Given the description of an element on the screen output the (x, y) to click on. 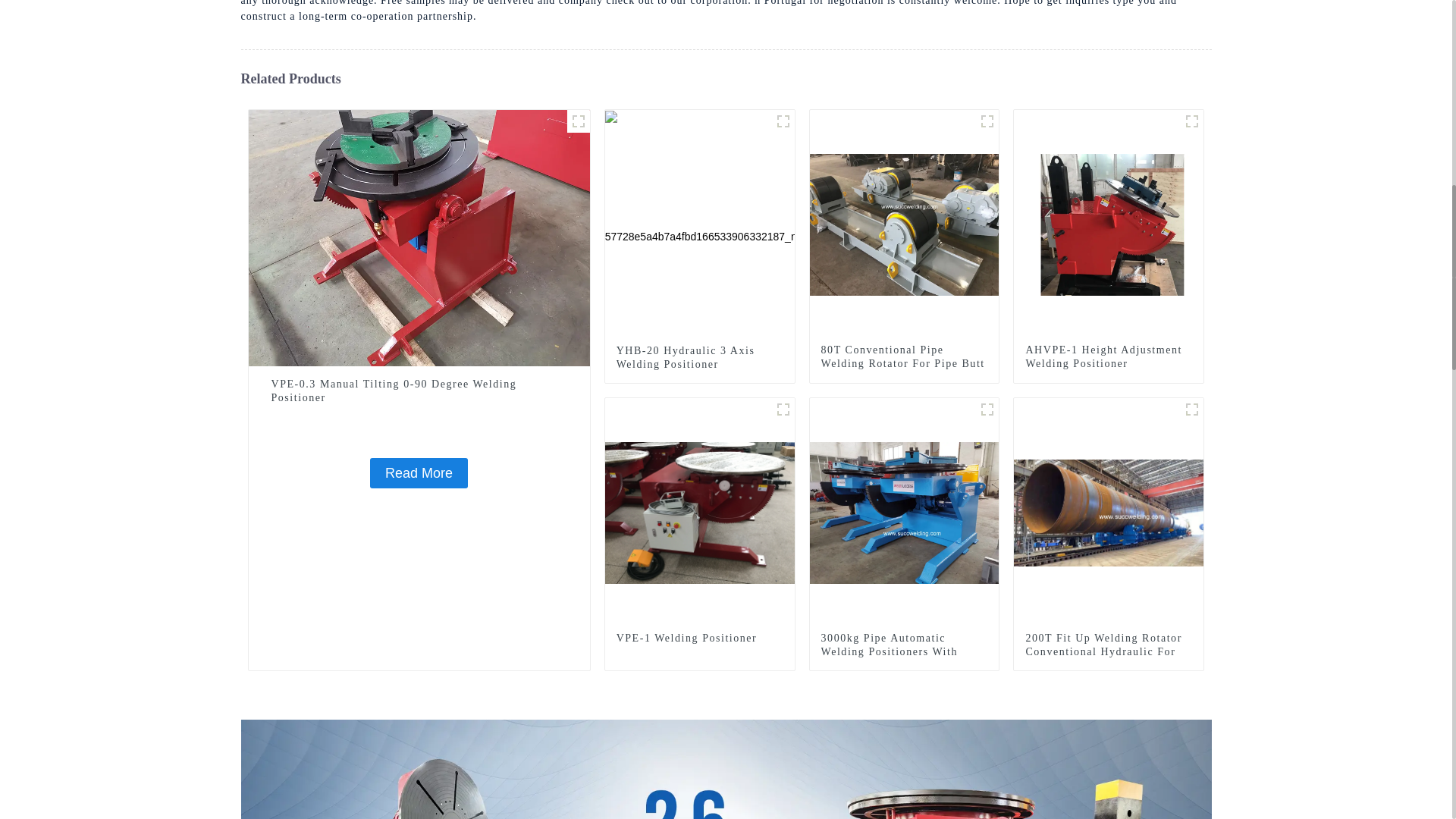
VPE-0.3 Manual Tilting 0-90 Degree Welding Positioner (418, 390)
VPE-0.3 Manual Tilting 0-90 Degree Welding Positioner (418, 236)
VPE-0.3 Manual Tilting 0-90 Degree Welding Positioner (418, 390)
AHVPE-1 Height Adjustment Welding Positioner (1108, 223)
YHB-20 Hydraulic 3 Axis Welding Positioner (699, 223)
YHB-20 Hydraulic 3 Axis Welding Positioner (699, 357)
VPE-1 Welding Positioner (699, 511)
AHVPE-1 Height Adjustment Welding Positioner (1108, 357)
VPE-0.3 Manual Tilting 0-90 Degree Welding Positioner (418, 472)
